Given the description of an element on the screen output the (x, y) to click on. 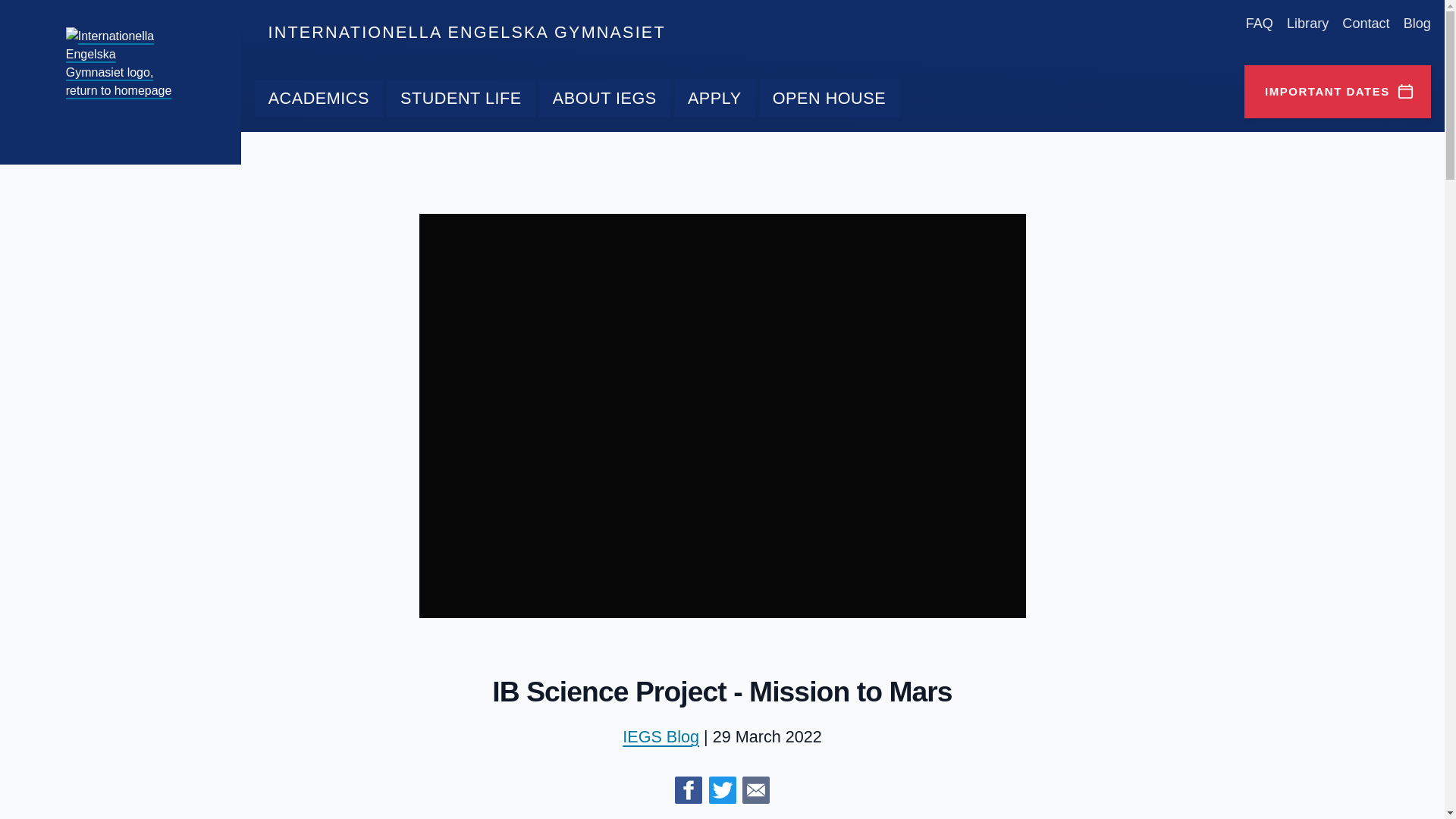
INTERNATIONELLA ENGELSKA GYMNASIET (466, 32)
Library (1307, 23)
IEGS Blog (660, 736)
STUDENT LIFE (461, 98)
Contact (1365, 23)
Blog (1417, 23)
APPLY (714, 98)
From the IEGS Blog: IB Science Project - Mission to Mars (756, 789)
OPEN HOUSE (828, 98)
ABOUT IEGS (603, 98)
